Given the description of an element on the screen output the (x, y) to click on. 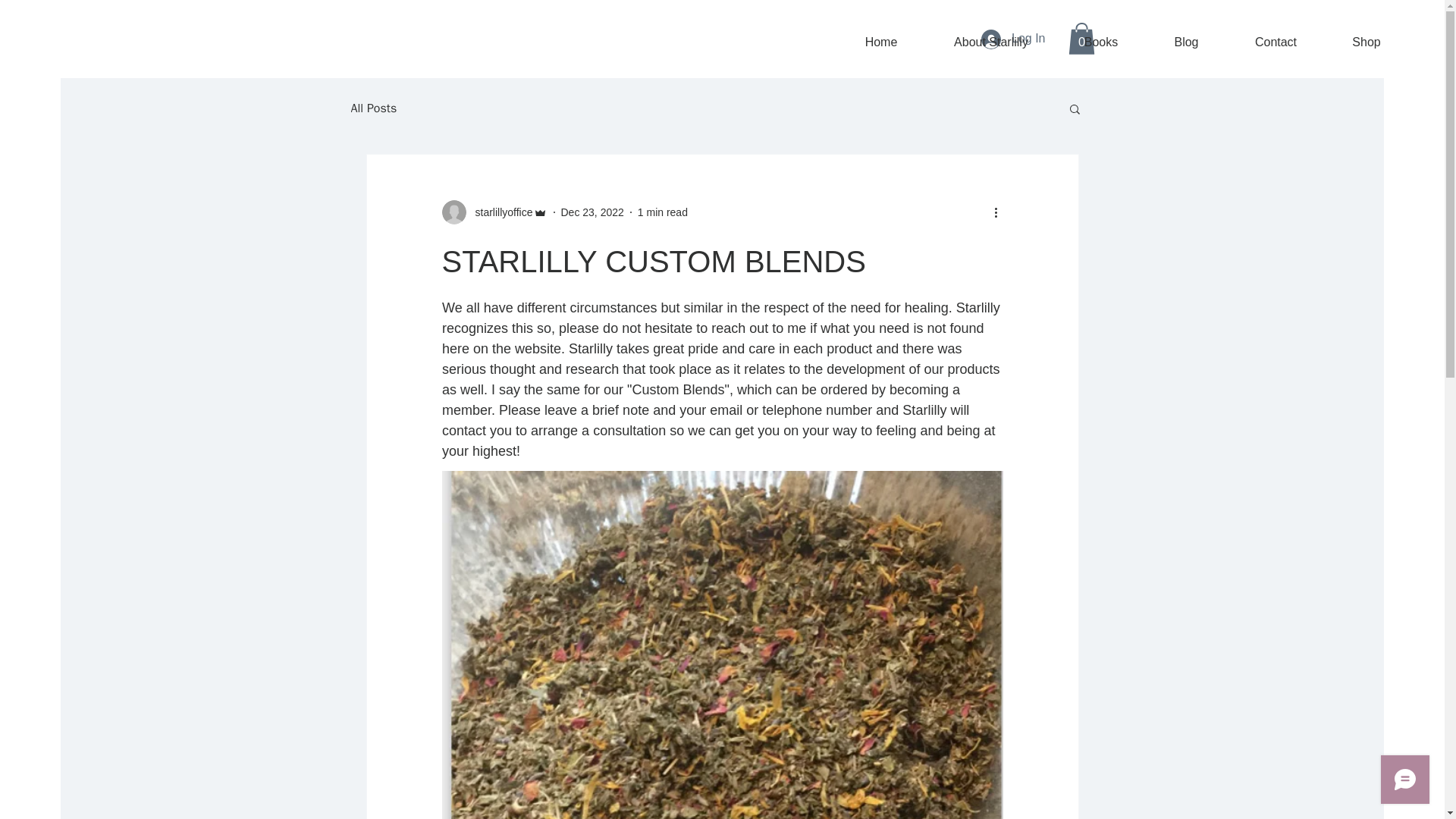
Blog (1186, 42)
All Posts (373, 107)
Shop (1365, 42)
Log In (1013, 38)
starlillyoffice (494, 211)
Books (1101, 42)
starlillyoffice (498, 212)
About Starlilly (991, 42)
Contact (1275, 42)
Home (880, 42)
1 min read (662, 212)
Dec 23, 2022 (592, 212)
